Given the description of an element on the screen output the (x, y) to click on. 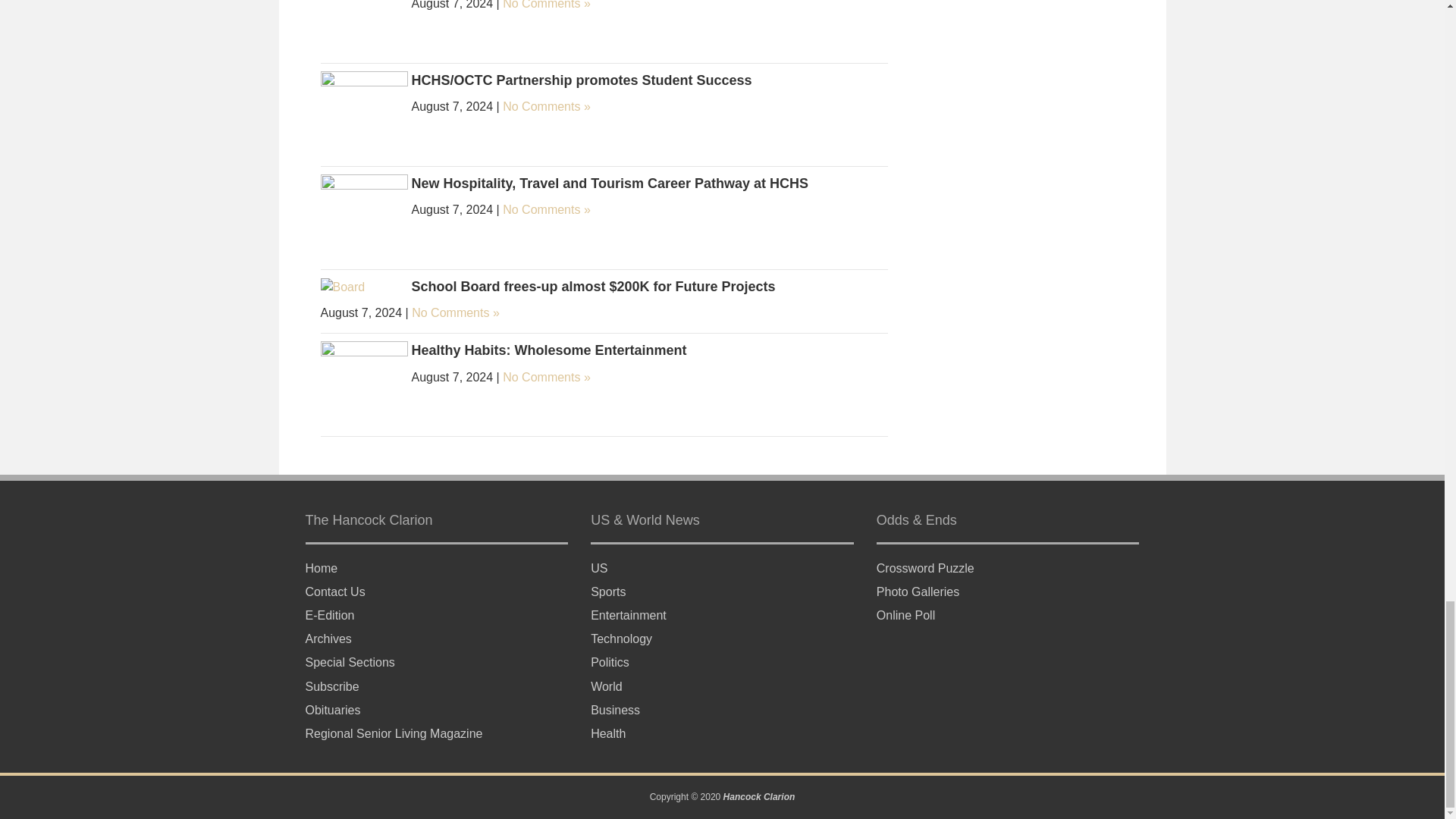
Healthy Habits: Wholesome Entertainment (547, 350)
New Hospitality, Travel and Tourism Career Pathway at HCHS (363, 216)
Healthy Habits: Wholesome Entertainment (363, 383)
New Hospitality, Travel and Tourism Career Pathway at HCHS (609, 183)
Junior Firefighter Program offered to HCHS students (363, 10)
